Given the description of an element on the screen output the (x, y) to click on. 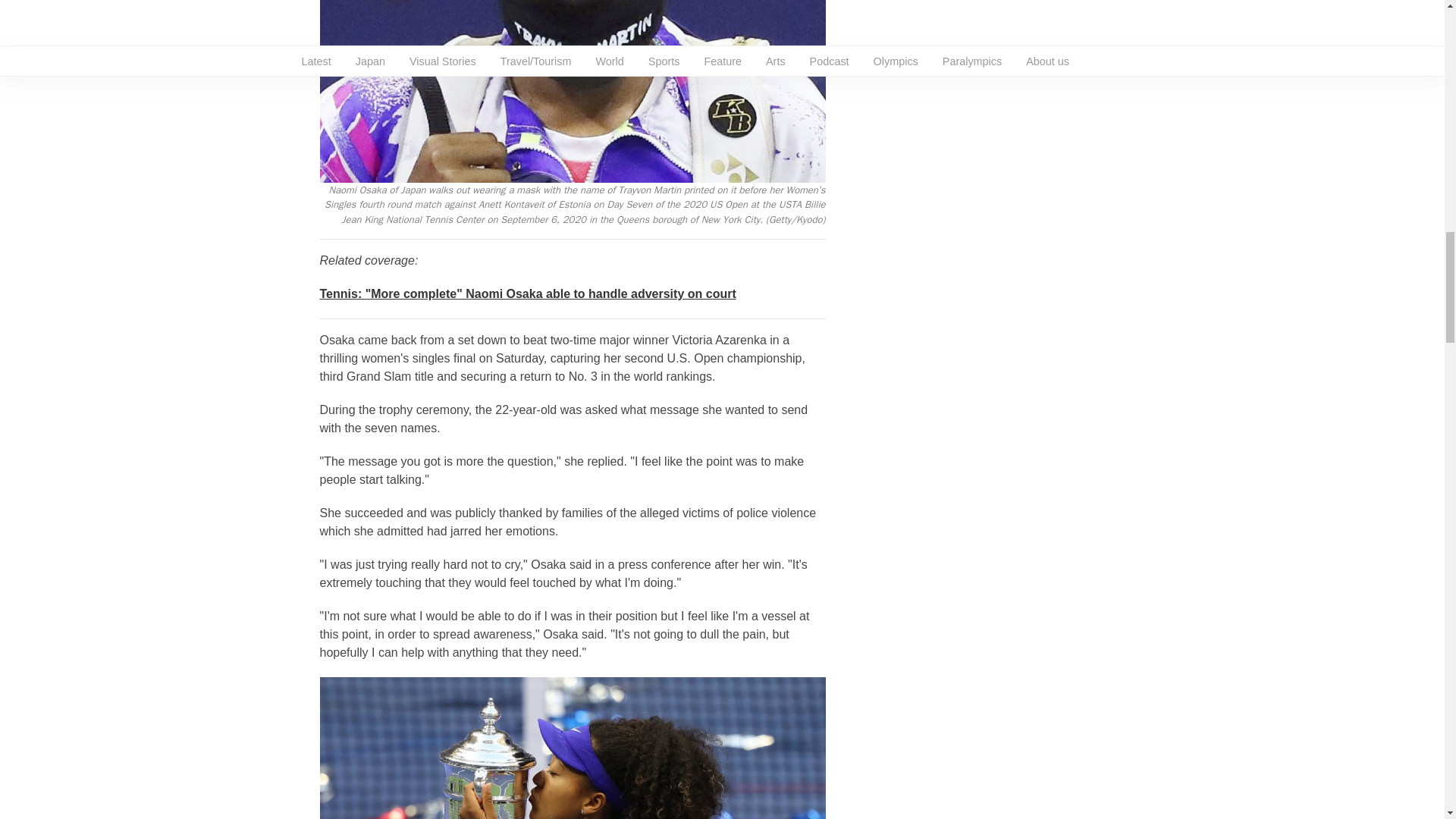
Kyodo News Plus (528, 293)
